Given the description of an element on the screen output the (x, y) to click on. 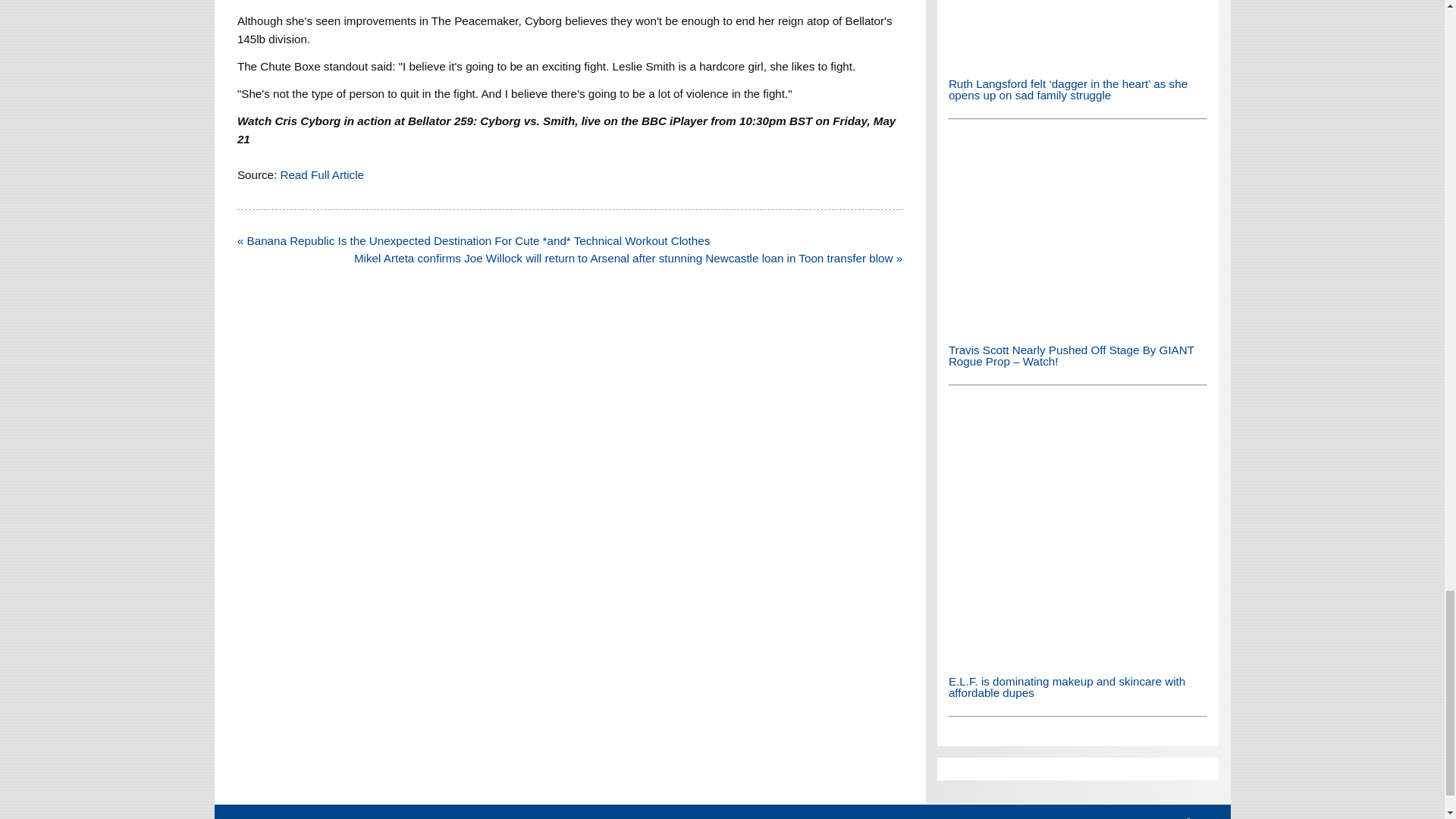
Read Full Article (321, 174)
